Given the description of an element on the screen output the (x, y) to click on. 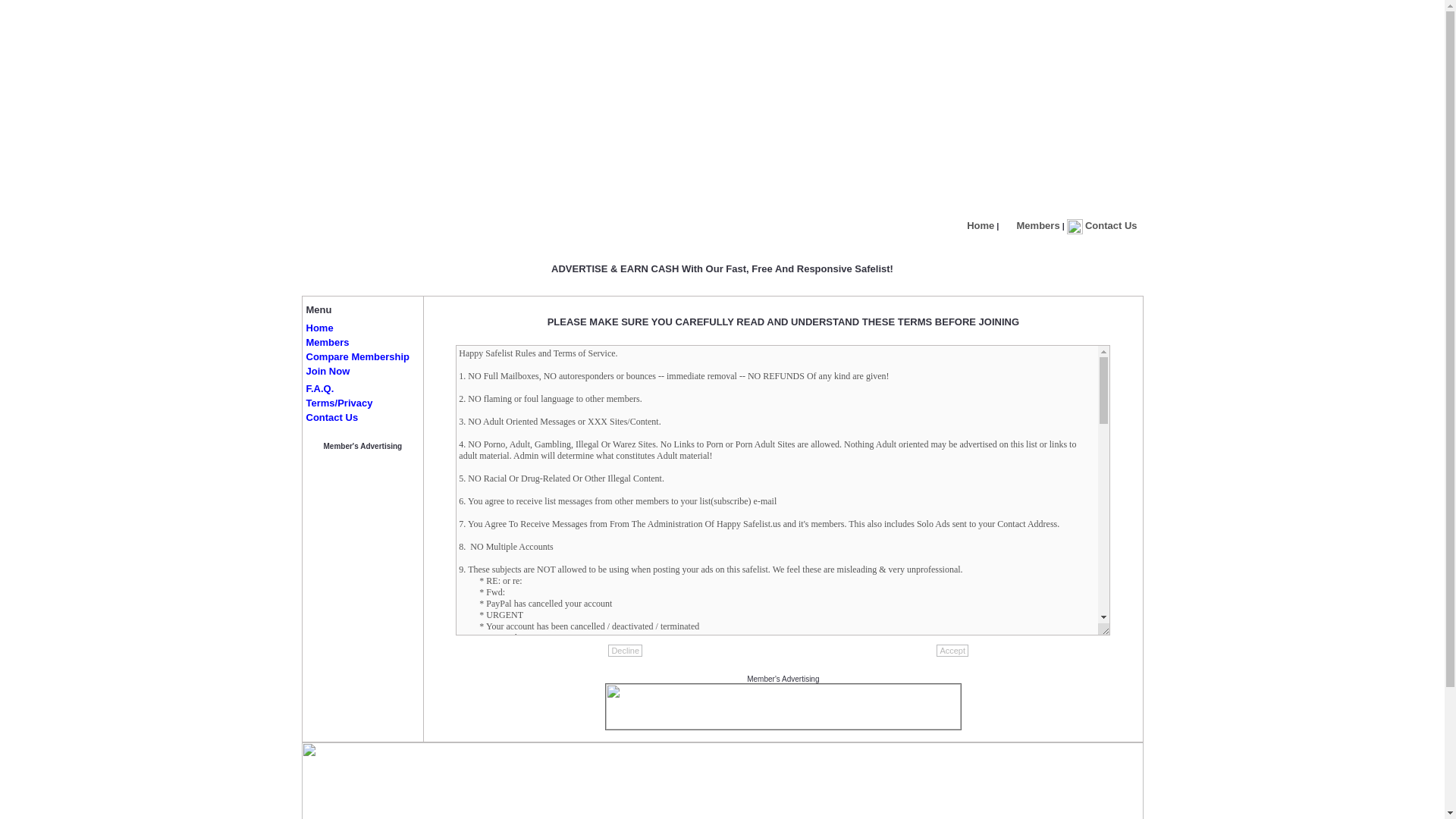
Accept (952, 650)
Join Now (327, 370)
Members (1037, 225)
Home (980, 225)
Contact Us (331, 417)
Decline (625, 650)
Compare Membership (357, 356)
Decline (625, 650)
F.A.Q. (319, 388)
Contact Us (1110, 225)
